Given the description of an element on the screen output the (x, y) to click on. 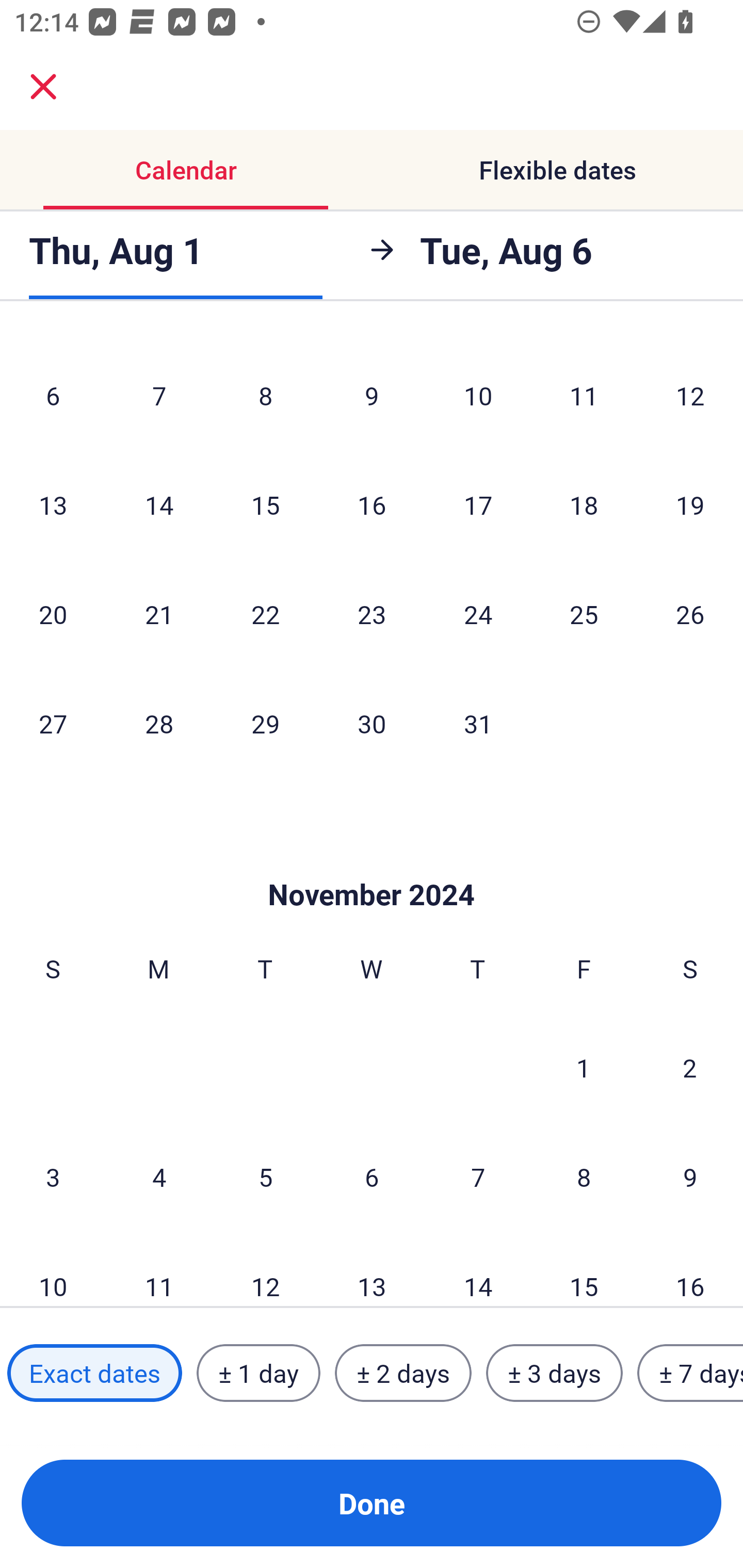
close. (43, 86)
Flexible dates (557, 170)
6 Sunday, October 6, 2024 (53, 394)
7 Monday, October 7, 2024 (159, 394)
8 Tuesday, October 8, 2024 (265, 394)
9 Wednesday, October 9, 2024 (371, 394)
10 Thursday, October 10, 2024 (477, 394)
11 Friday, October 11, 2024 (584, 394)
12 Saturday, October 12, 2024 (690, 394)
13 Sunday, October 13, 2024 (53, 504)
14 Monday, October 14, 2024 (159, 504)
15 Tuesday, October 15, 2024 (265, 504)
16 Wednesday, October 16, 2024 (371, 504)
17 Thursday, October 17, 2024 (477, 504)
18 Friday, October 18, 2024 (584, 504)
19 Saturday, October 19, 2024 (690, 504)
20 Sunday, October 20, 2024 (53, 613)
21 Monday, October 21, 2024 (159, 613)
22 Tuesday, October 22, 2024 (265, 613)
23 Wednesday, October 23, 2024 (371, 613)
24 Thursday, October 24, 2024 (477, 613)
25 Friday, October 25, 2024 (584, 613)
26 Saturday, October 26, 2024 (690, 613)
27 Sunday, October 27, 2024 (53, 723)
28 Monday, October 28, 2024 (159, 723)
29 Tuesday, October 29, 2024 (265, 723)
30 Wednesday, October 30, 2024 (371, 723)
31 Thursday, October 31, 2024 (477, 723)
Skip to Done (371, 863)
1 Friday, November 1, 2024 (583, 1066)
2 Saturday, November 2, 2024 (689, 1066)
3 Sunday, November 3, 2024 (53, 1176)
4 Monday, November 4, 2024 (159, 1176)
5 Tuesday, November 5, 2024 (265, 1176)
6 Wednesday, November 6, 2024 (371, 1176)
7 Thursday, November 7, 2024 (477, 1176)
8 Friday, November 8, 2024 (584, 1176)
9 Saturday, November 9, 2024 (690, 1176)
10 Sunday, November 10, 2024 (53, 1270)
11 Monday, November 11, 2024 (159, 1270)
12 Tuesday, November 12, 2024 (265, 1270)
13 Wednesday, November 13, 2024 (371, 1270)
14 Thursday, November 14, 2024 (477, 1270)
15 Friday, November 15, 2024 (584, 1270)
16 Saturday, November 16, 2024 (690, 1270)
Exact dates (94, 1372)
± 1 day (258, 1372)
± 2 days (403, 1372)
± 3 days (553, 1372)
± 7 days (690, 1372)
